Given the description of an element on the screen output the (x, y) to click on. 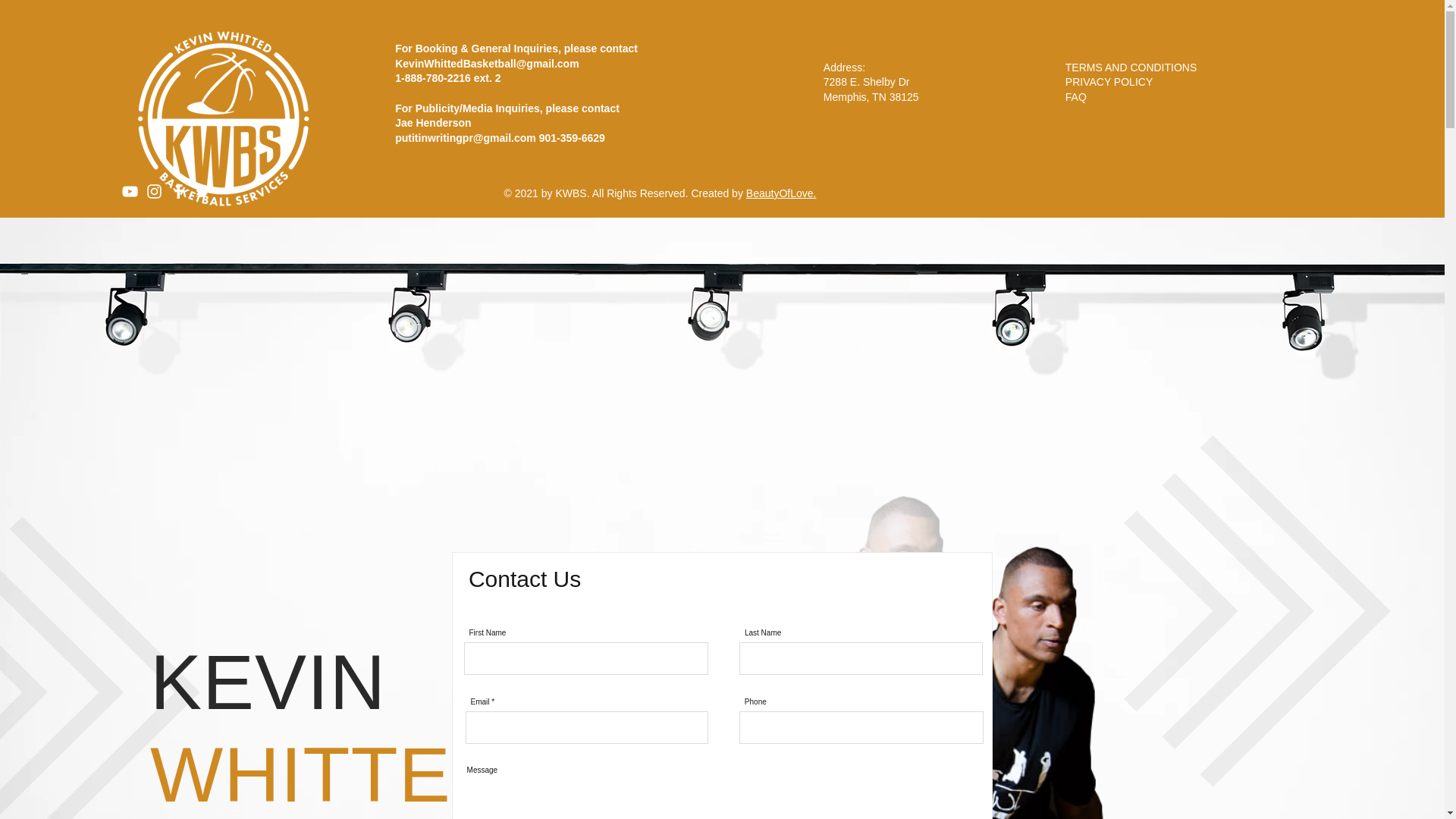
Contact (1195, 80)
BOOK NOW (1364, 30)
Log In (276, 108)
Shop (1406, 80)
Home (1064, 80)
AAU (1257, 80)
The Young3 (1329, 80)
BeautyOfLove. (780, 193)
About (1125, 80)
